Given the description of an element on the screen output the (x, y) to click on. 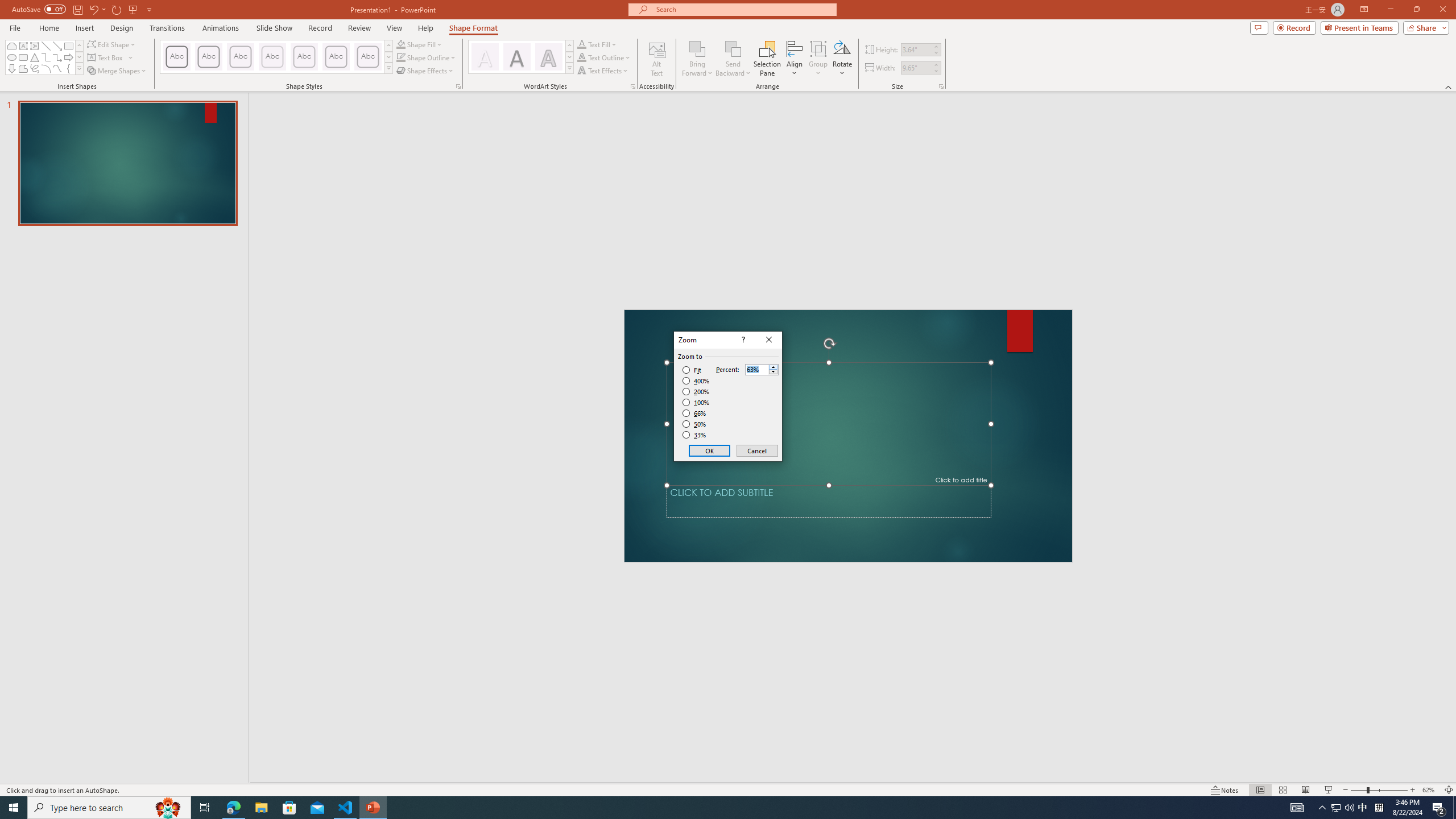
Text Fill (596, 44)
Shape Fill Orange, Accent 2 (400, 44)
Edit Shape (112, 44)
AutomationID: ShapeStylesGallery (276, 56)
Send Backward (733, 48)
Text Fill RGB(0, 0, 0) (581, 44)
200% (696, 391)
Running applications (707, 807)
Colored Outline - Dark Red, Accent 1 (208, 56)
